Given the description of an element on the screen output the (x, y) to click on. 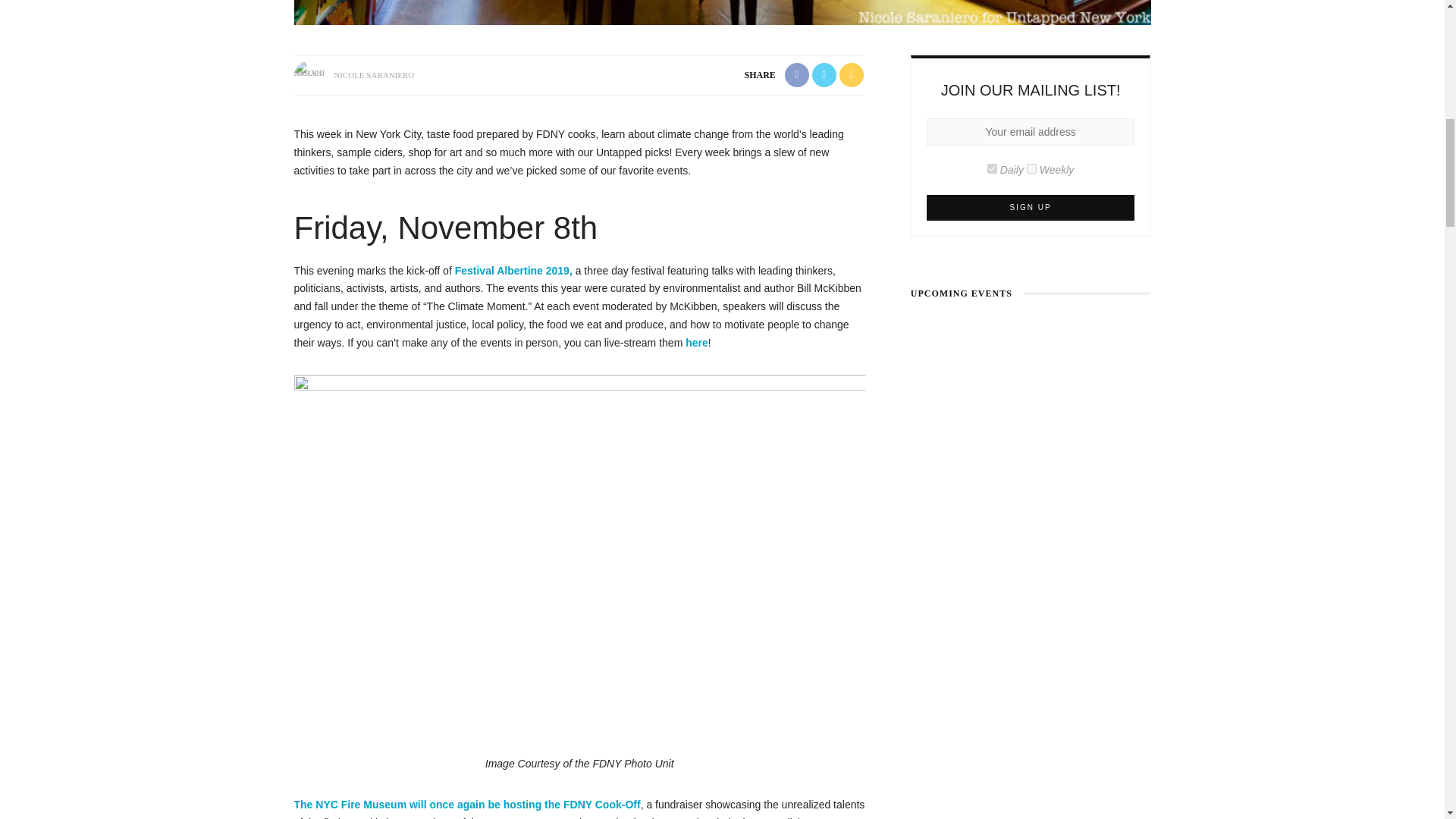
7cff6a70fd (1031, 168)
Sign up (1030, 207)
e99a09560c (992, 168)
